Given the description of an element on the screen output the (x, y) to click on. 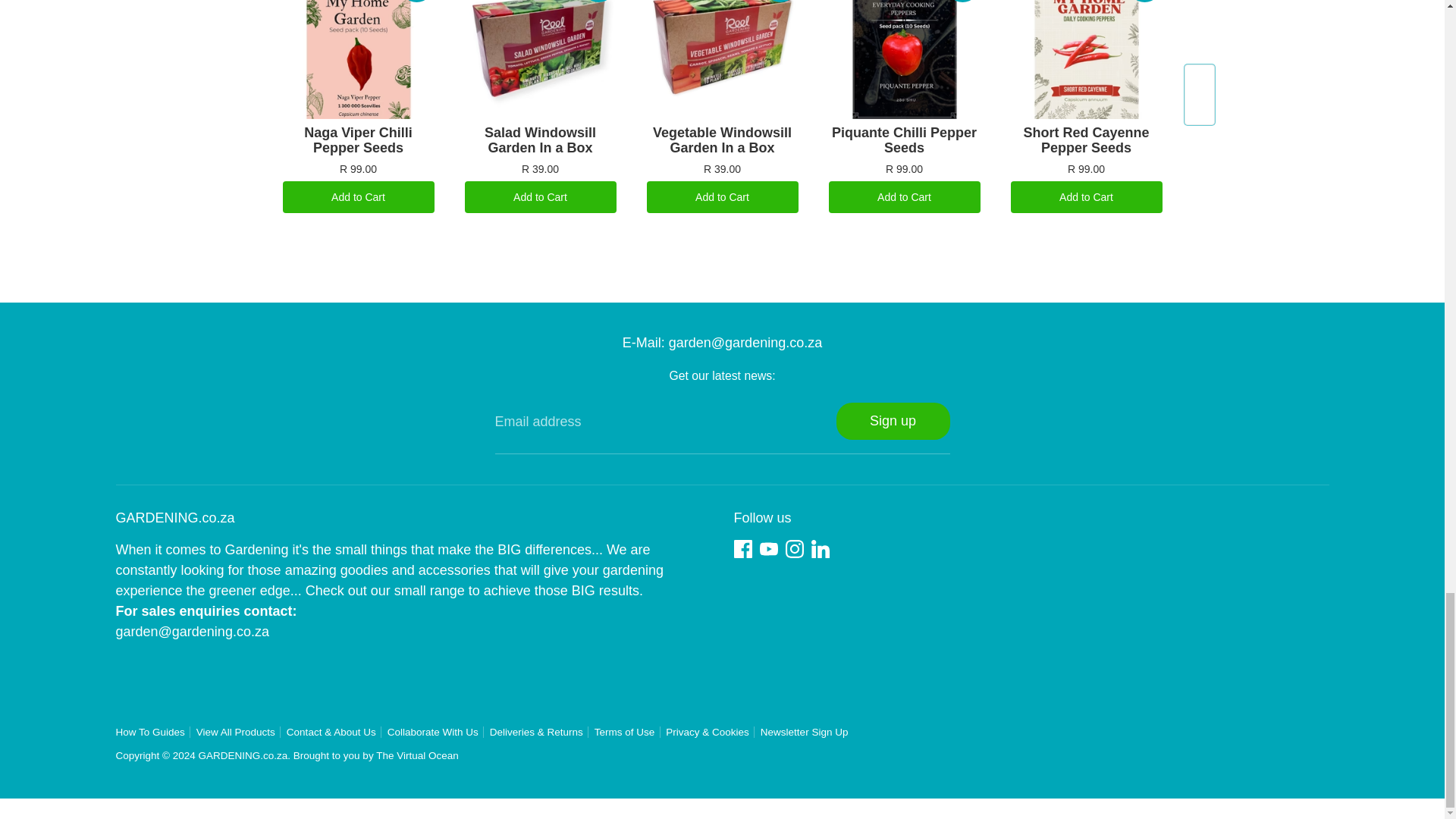
Salad Windowsill Garden In a Box (540, 59)
Short Red Cayenne Pepper Seeds (1086, 59)
Naga Viper Chilli Pepper Seeds (358, 59)
Vegetable Windowsill Garden In a Box (722, 59)
Piquante Chilli Pepper Seeds (904, 59)
